Given the description of an element on the screen output the (x, y) to click on. 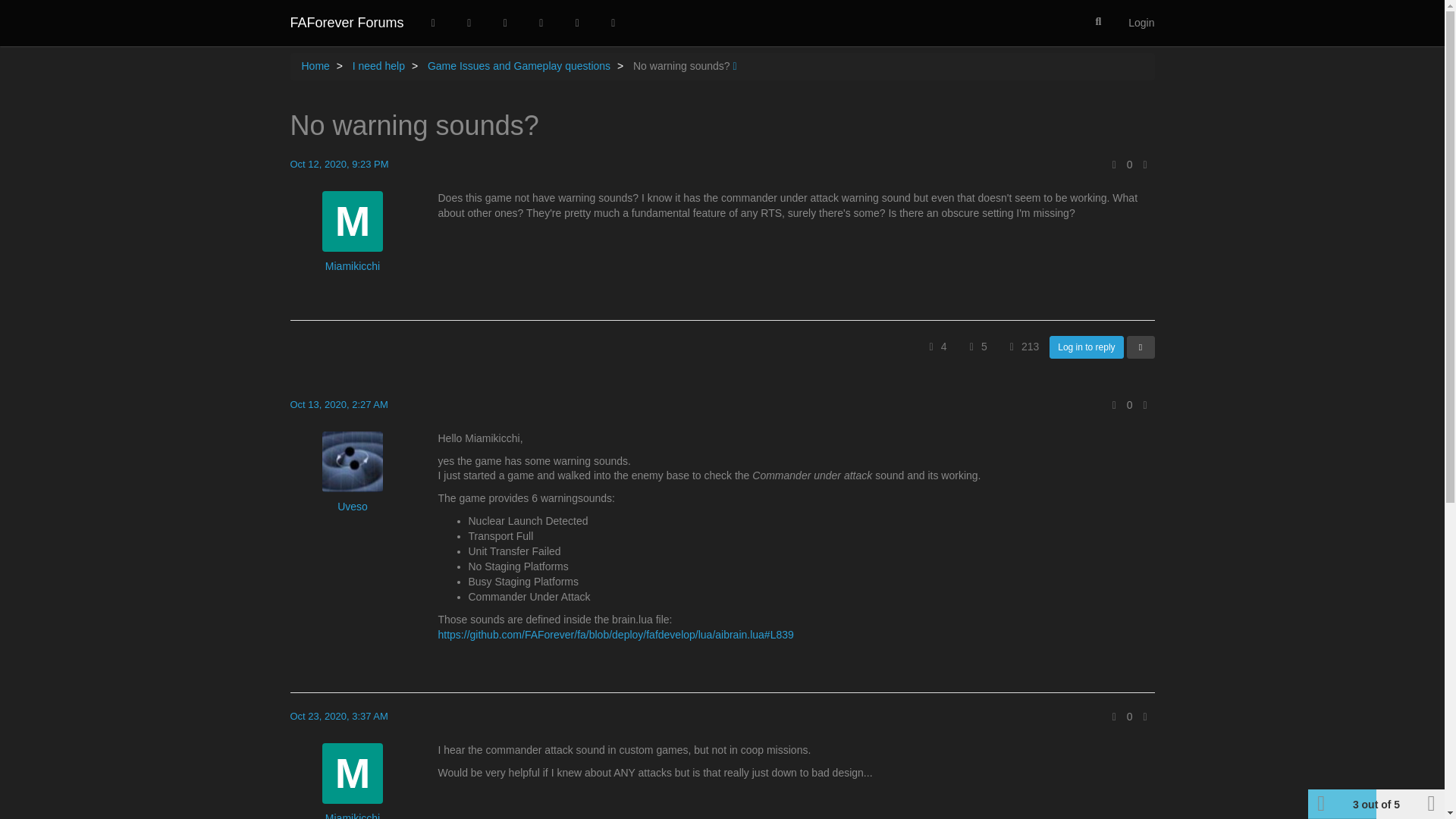
Game Issues and Gameplay questions (519, 65)
Oct 12, 2020, 9:23 PM (338, 163)
Search (1098, 21)
Log in to reply (1085, 346)
Login (1141, 22)
M (351, 220)
I need help (378, 65)
Oct 12, 2020, 9:23 PM (338, 163)
Miamikicchi (352, 266)
Home (315, 65)
